Given the description of an element on the screen output the (x, y) to click on. 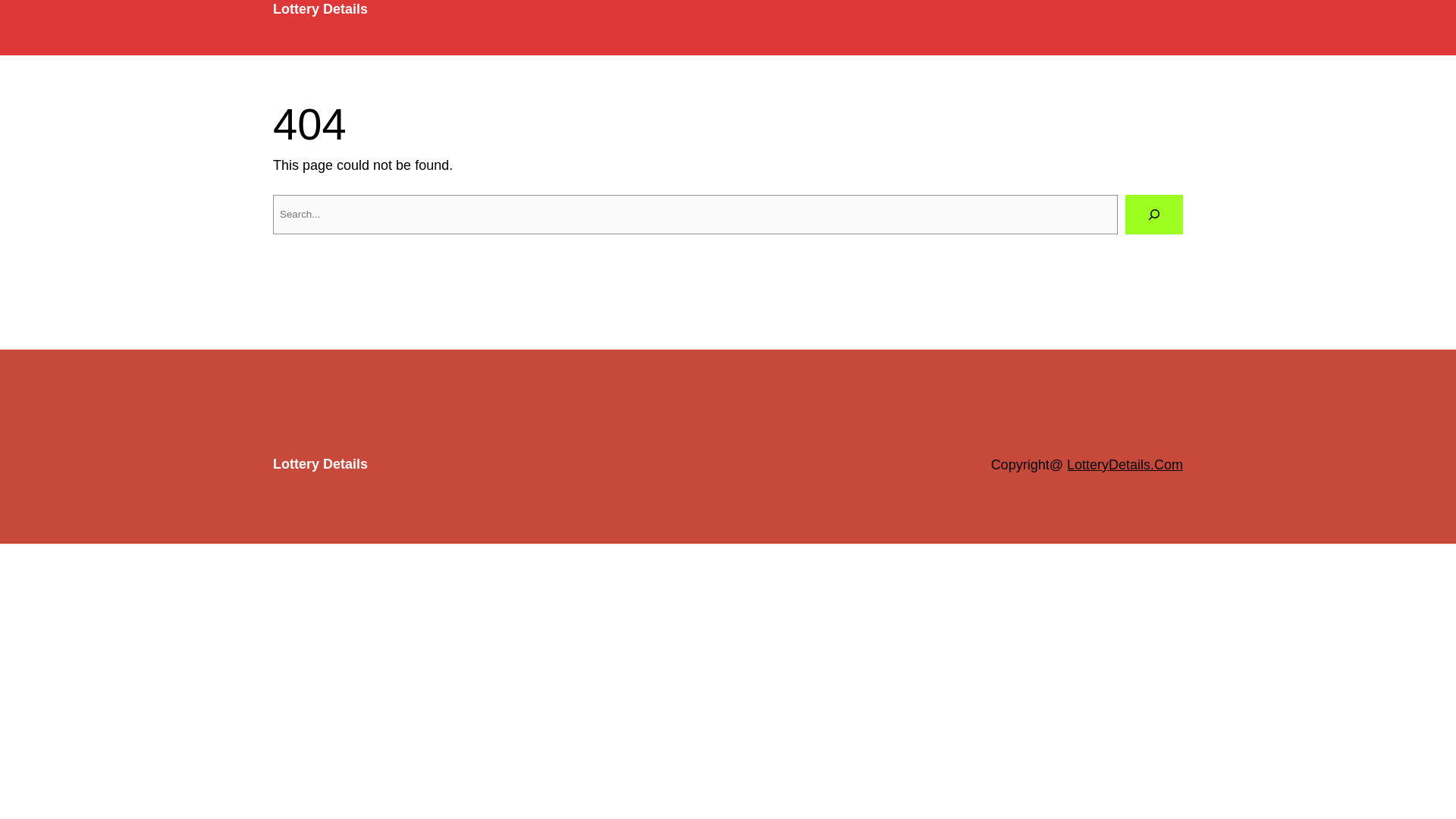
Lottery Details (320, 463)
Lottery Details (320, 8)
LotteryDetails.Com (1124, 464)
